Given the description of an element on the screen output the (x, y) to click on. 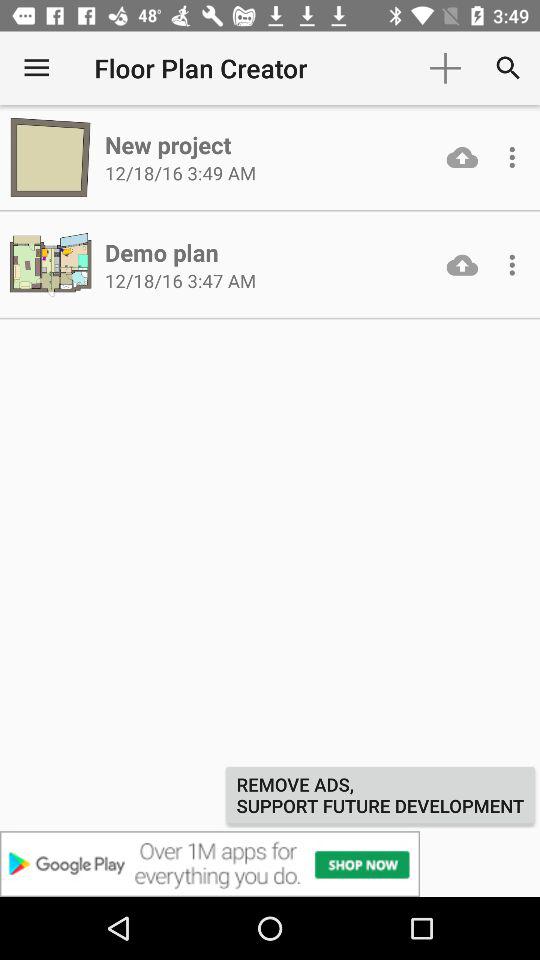
addvadisment (270, 864)
